Given the description of an element on the screen output the (x, y) to click on. 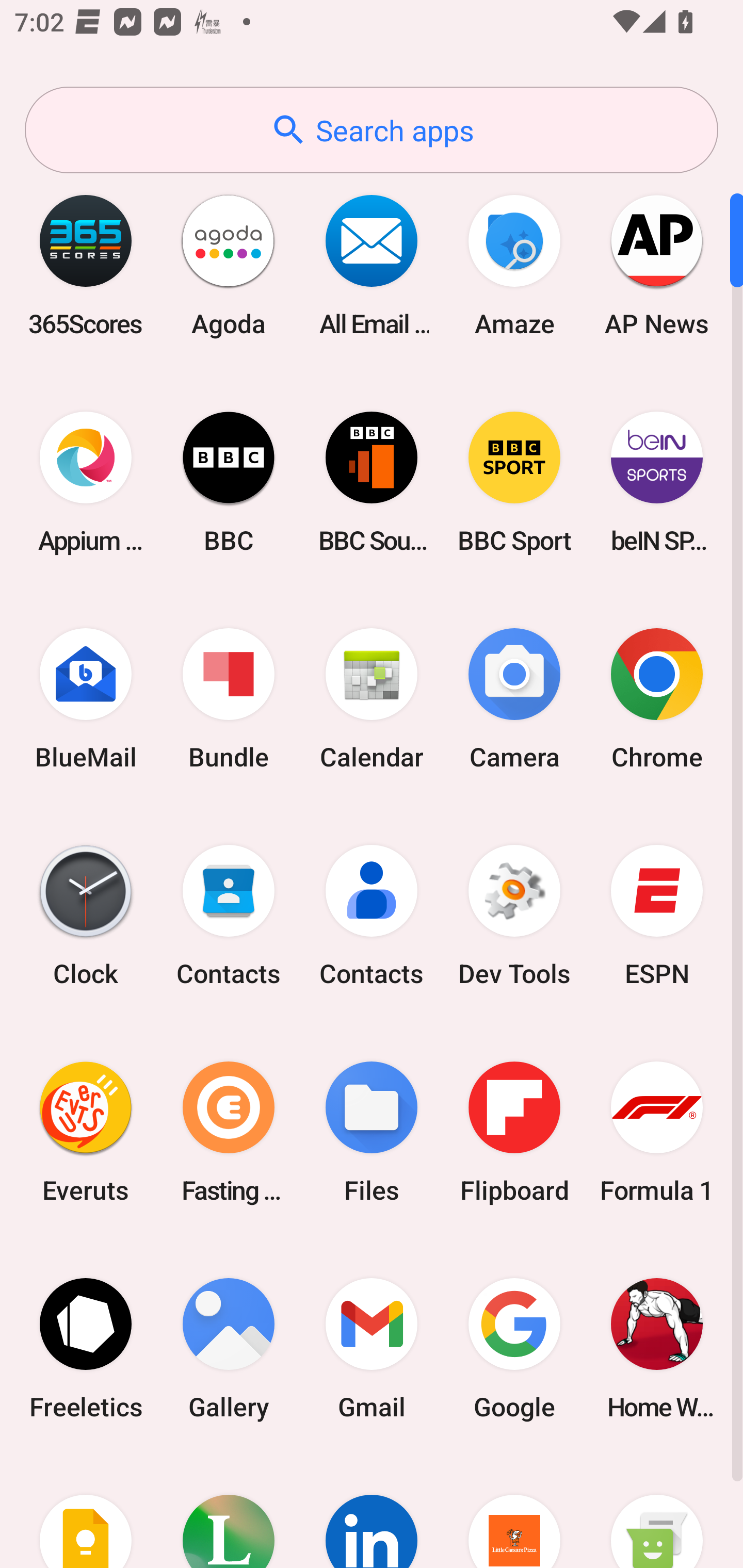
  Search apps (371, 130)
365Scores (85, 264)
Agoda (228, 264)
All Email Connect (371, 264)
Amaze (514, 264)
AP News (656, 264)
Appium Settings (85, 482)
BBC (228, 482)
BBC Sounds (371, 482)
BBC Sport (514, 482)
beIN SPORTS (656, 482)
BlueMail (85, 699)
Bundle (228, 699)
Calendar (371, 699)
Camera (514, 699)
Chrome (656, 699)
Clock (85, 915)
Contacts (228, 915)
Contacts (371, 915)
Dev Tools (514, 915)
ESPN (656, 915)
Everuts (85, 1131)
Fasting Coach (228, 1131)
Files (371, 1131)
Flipboard (514, 1131)
Formula 1 (656, 1131)
Freeletics (85, 1348)
Gallery (228, 1348)
Gmail (371, 1348)
Google (514, 1348)
Home Workout (656, 1348)
Keep Notes (85, 1512)
Lifesum (228, 1512)
LinkedIn (371, 1512)
Little Caesars Pizza (514, 1512)
Messaging (656, 1512)
